Given the description of an element on the screen output the (x, y) to click on. 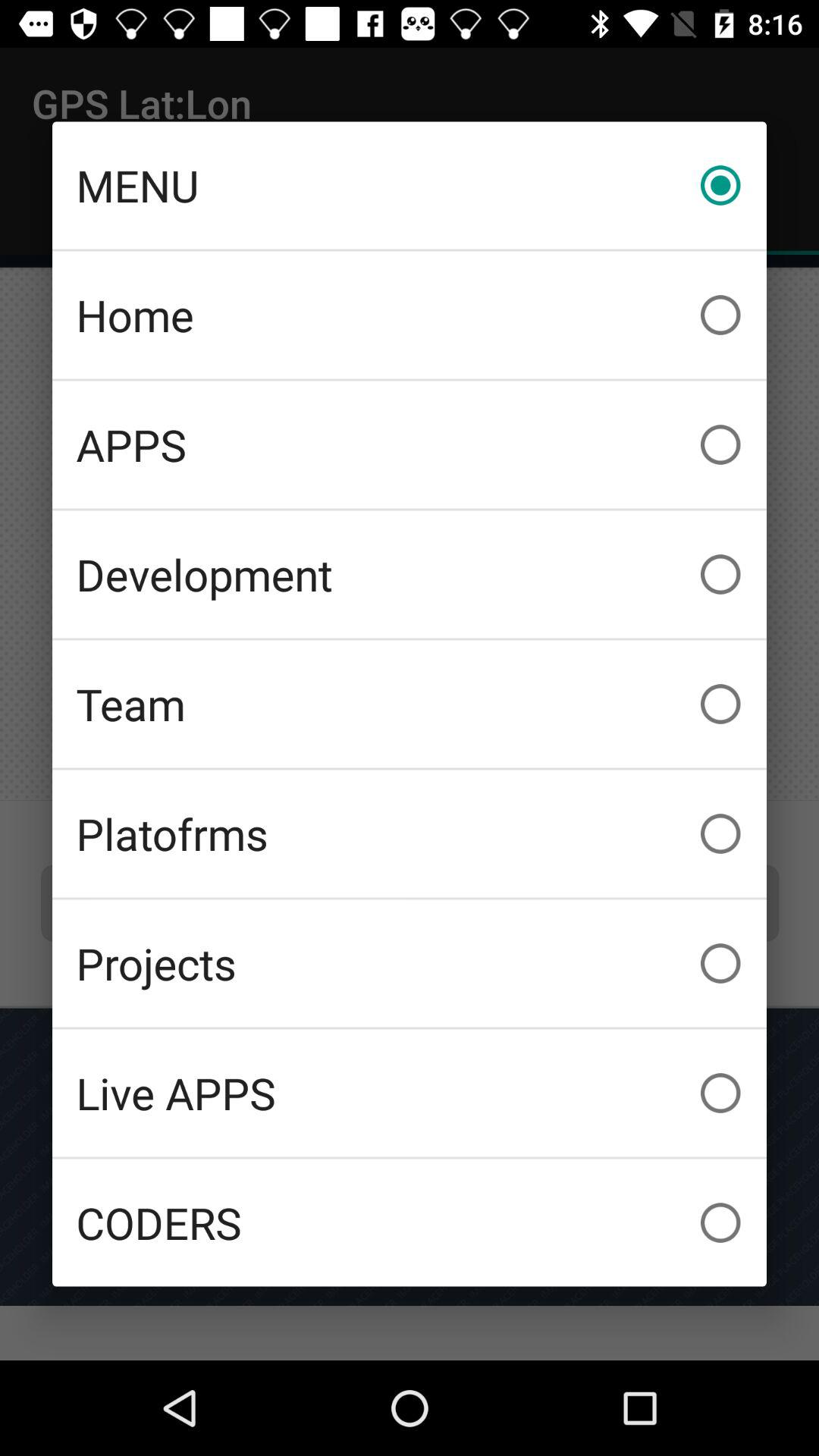
swipe until home item (409, 314)
